Given the description of an element on the screen output the (x, y) to click on. 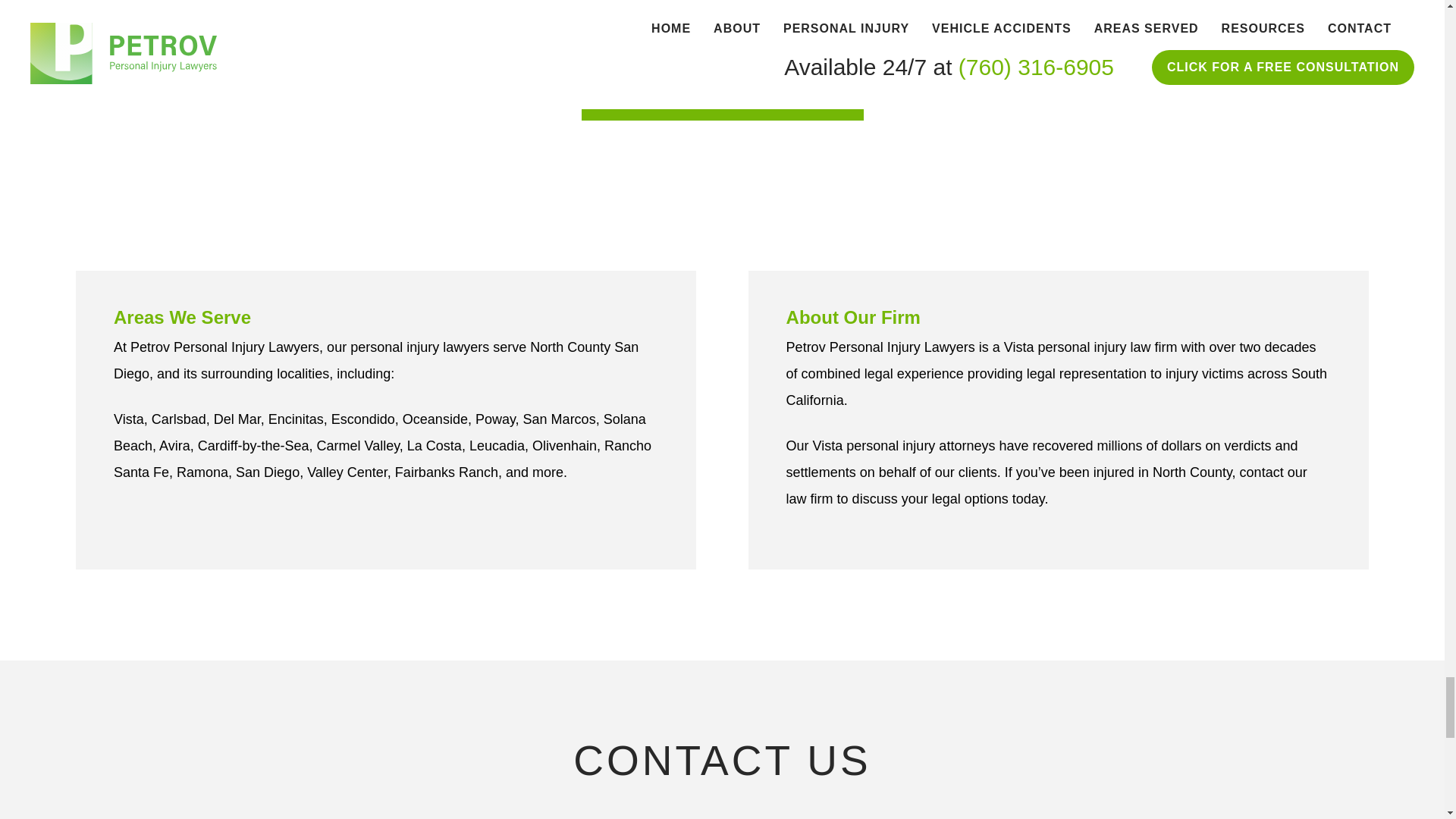
Get a Free Consultation (721, 93)
